Given the description of an element on the screen output the (x, y) to click on. 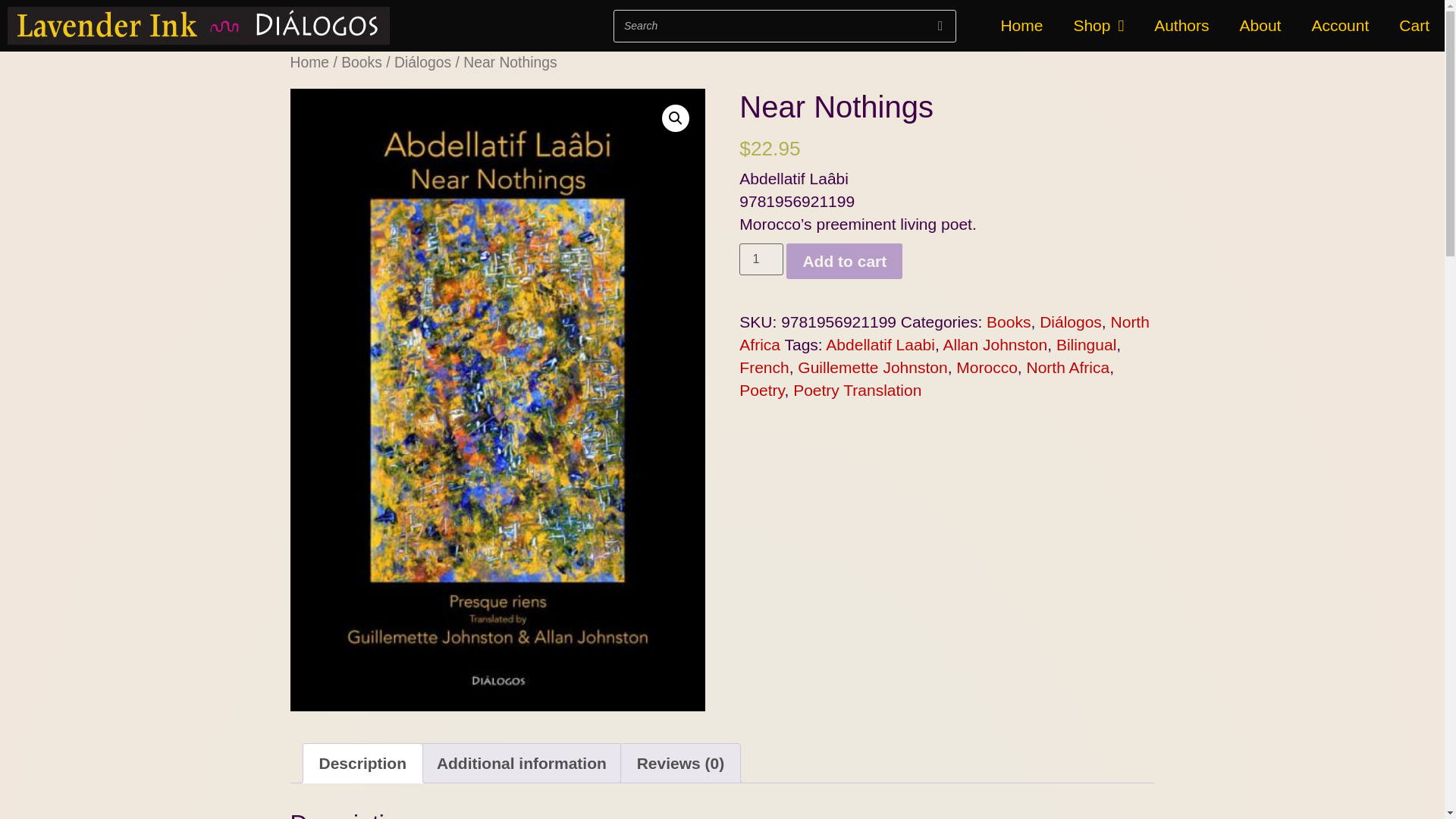
About (1260, 25)
Shop (1098, 25)
Account (1339, 25)
1 (761, 259)
Home (1021, 25)
Authors (1181, 25)
